Given the description of an element on the screen output the (x, y) to click on. 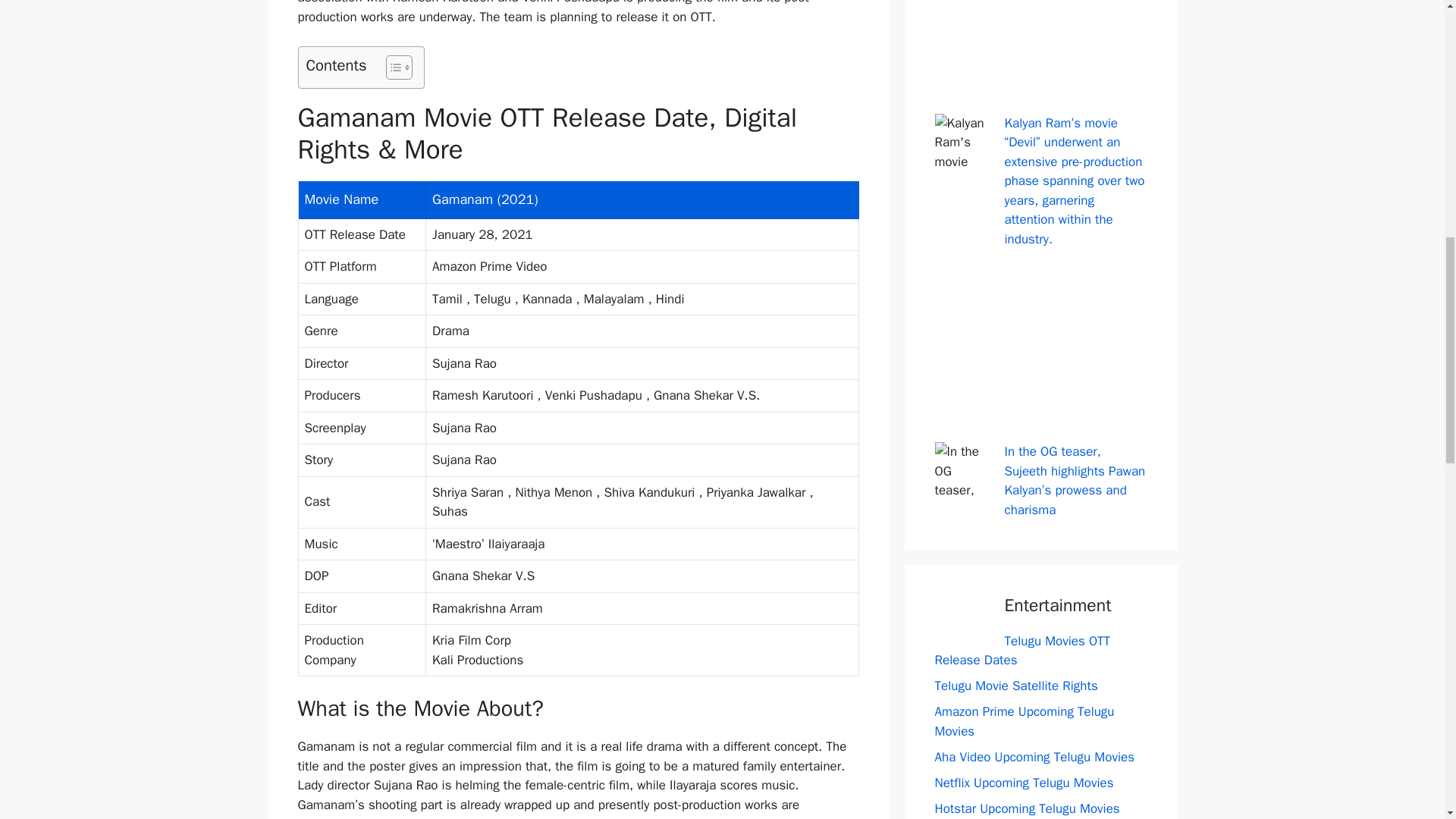
Telugu Movies OTT Release Dates (1021, 651)
Amazon Prime Upcoming Telugu Movies (1023, 721)
Telugu Movie Satellite Rights (1015, 685)
Aha Video Upcoming Telugu Movies (1034, 756)
Netflix Upcoming Telugu Movies (1023, 782)
